Given the description of an element on the screen output the (x, y) to click on. 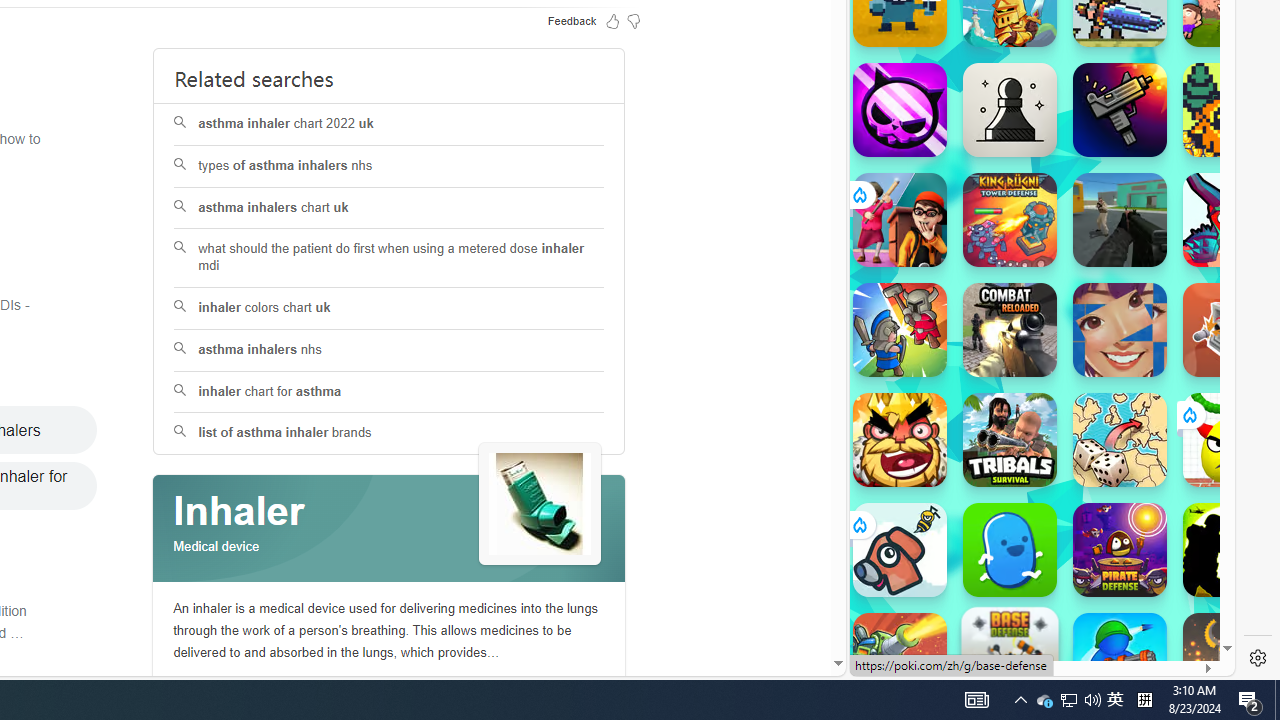
types of asthma inhalers nhs (389, 165)
